Given the description of an element on the screen output the (x, y) to click on. 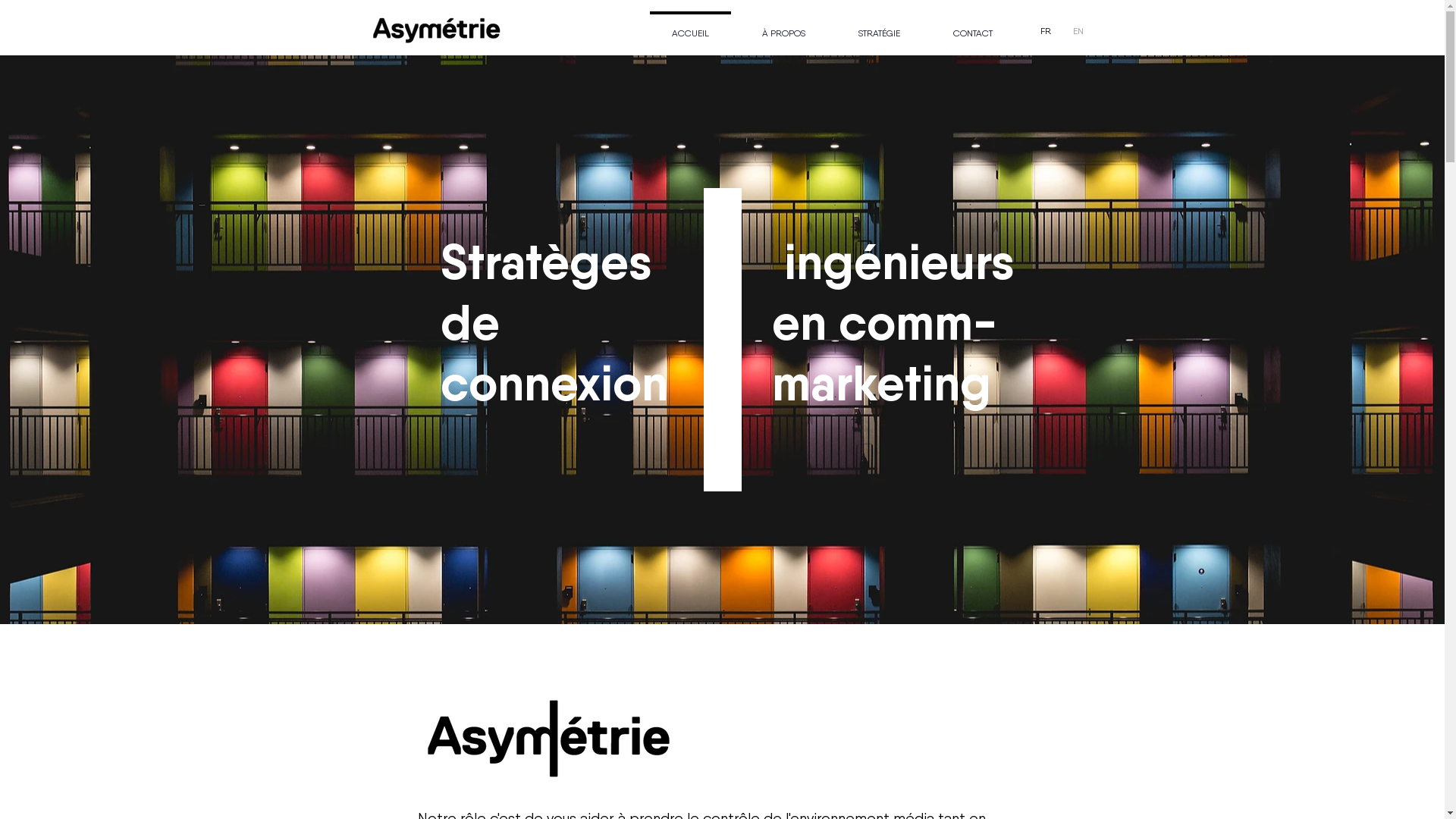
ACCUEIL Element type: text (689, 26)
EN Element type: text (1077, 31)
FR Element type: text (1045, 31)
CONTACT Element type: text (972, 26)
